Given the description of an element on the screen output the (x, y) to click on. 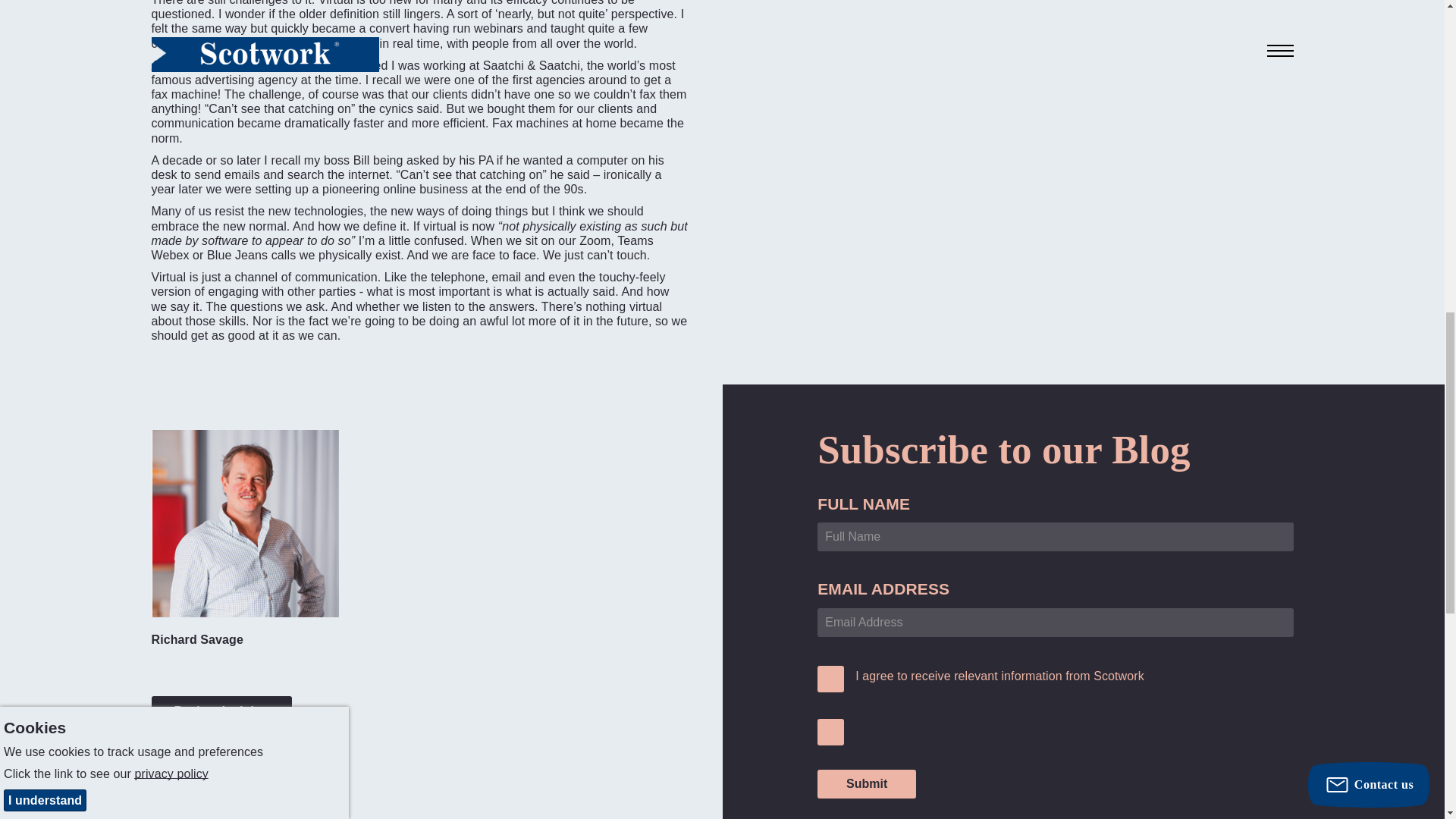
Back to Insights (221, 710)
Submit (865, 783)
